Given the description of an element on the screen output the (x, y) to click on. 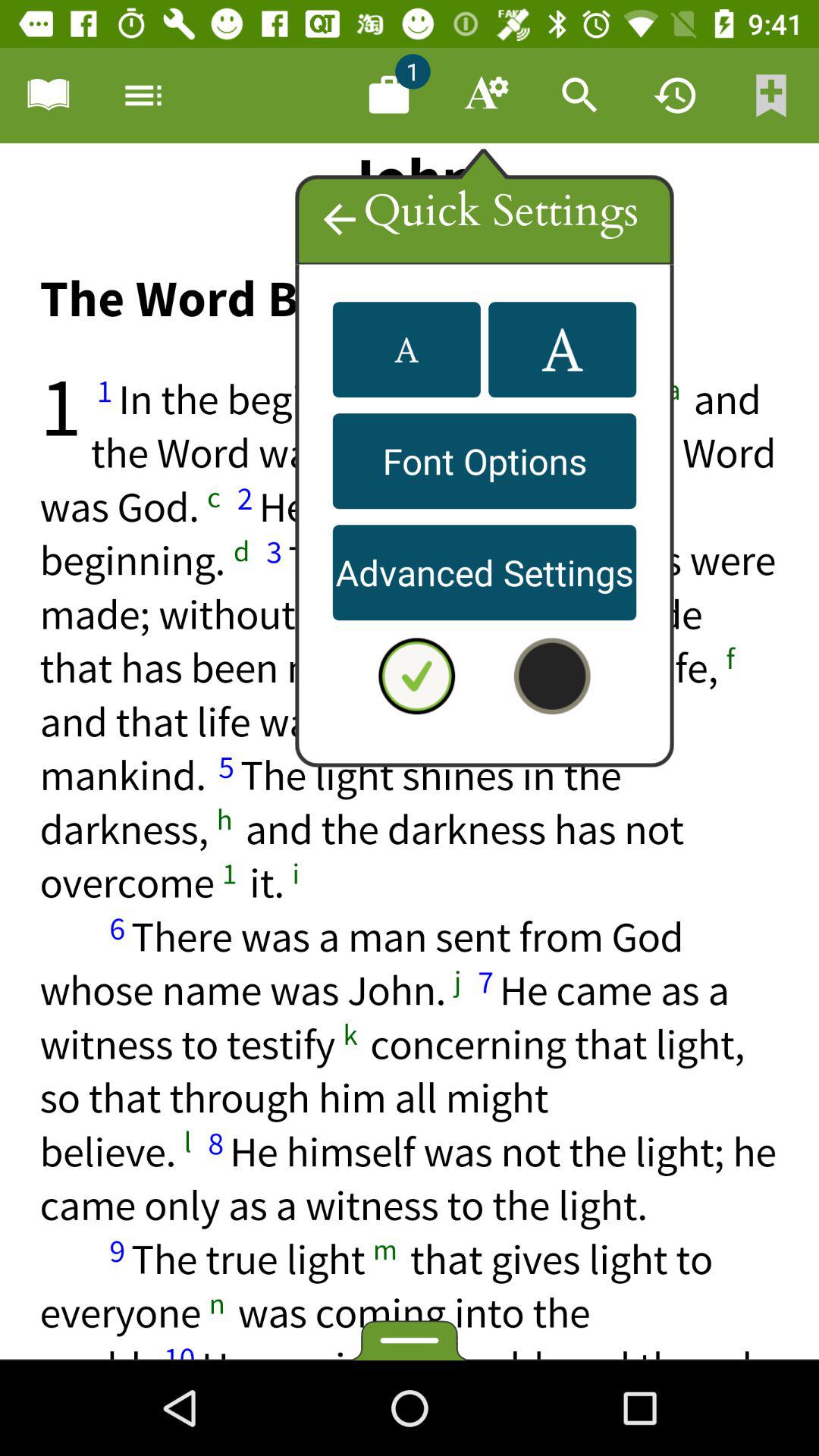
toggle ok for settings (416, 676)
